Given the description of an element on the screen output the (x, y) to click on. 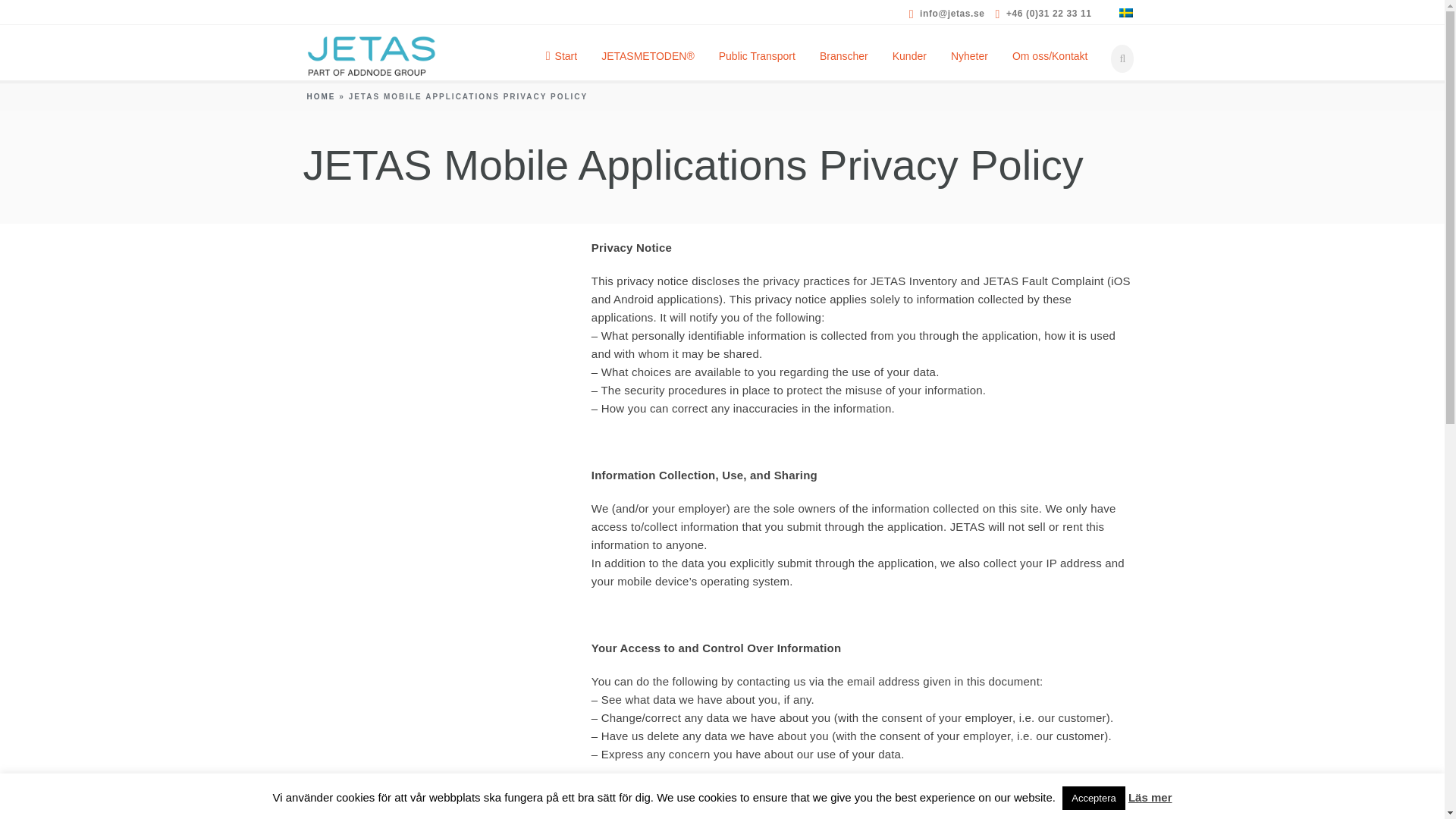
Acceptera (1093, 797)
Nyheter (969, 51)
HOME (319, 96)
Start (561, 51)
Public Transport (757, 51)
Branscher (844, 51)
Kunder (909, 51)
Svenska (1125, 12)
